Given the description of an element on the screen output the (x, y) to click on. 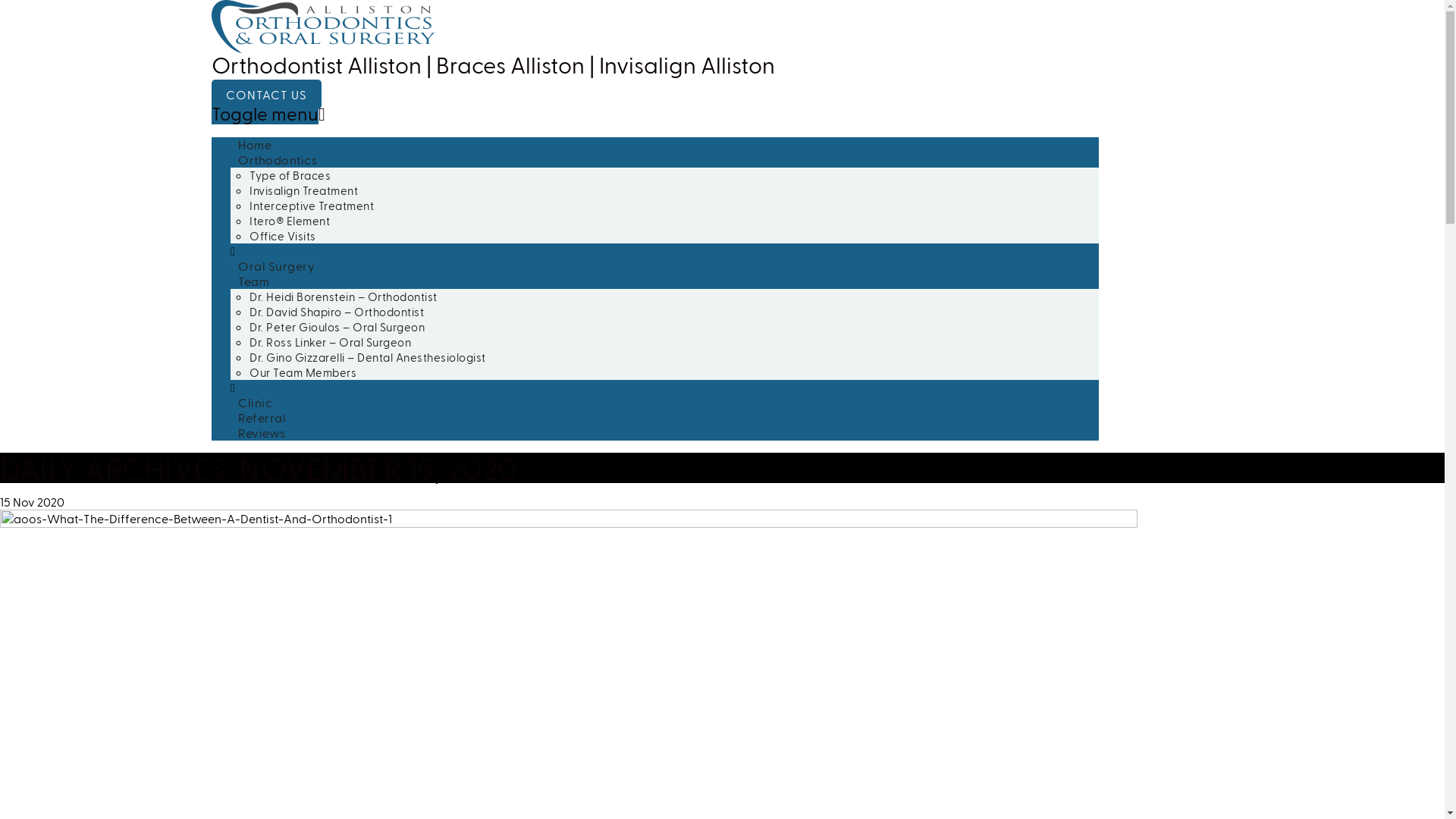
Type of Braces Element type: text (289, 175)
Orthodontics Element type: text (277, 159)
Our Team Members Element type: text (302, 372)
Interceptive Treatment Element type: text (311, 205)
Clinic Element type: text (255, 402)
CONTACT US Element type: text (266, 94)
Invisalign Treatment Element type: text (303, 190)
Home Element type: text (254, 144)
Team Element type: text (253, 280)
Reviews Element type: text (261, 432)
Referral Element type: text (261, 417)
Oral Surgery Element type: text (276, 265)
Office Visits Element type: text (282, 235)
Skip to content Element type: text (210, 135)
